Given the description of an element on the screen output the (x, y) to click on. 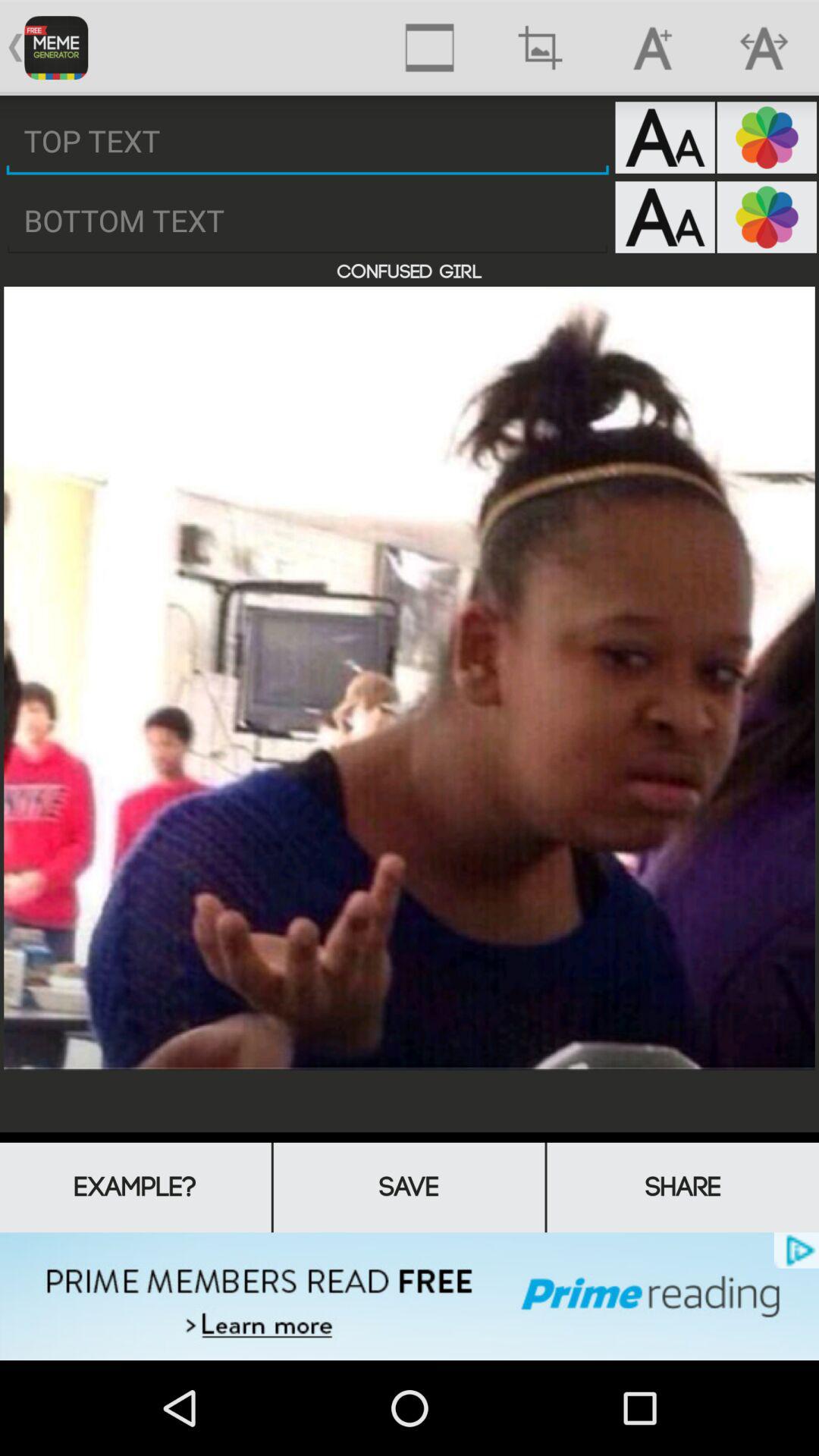
change text settings (664, 137)
